Given the description of an element on the screen output the (x, y) to click on. 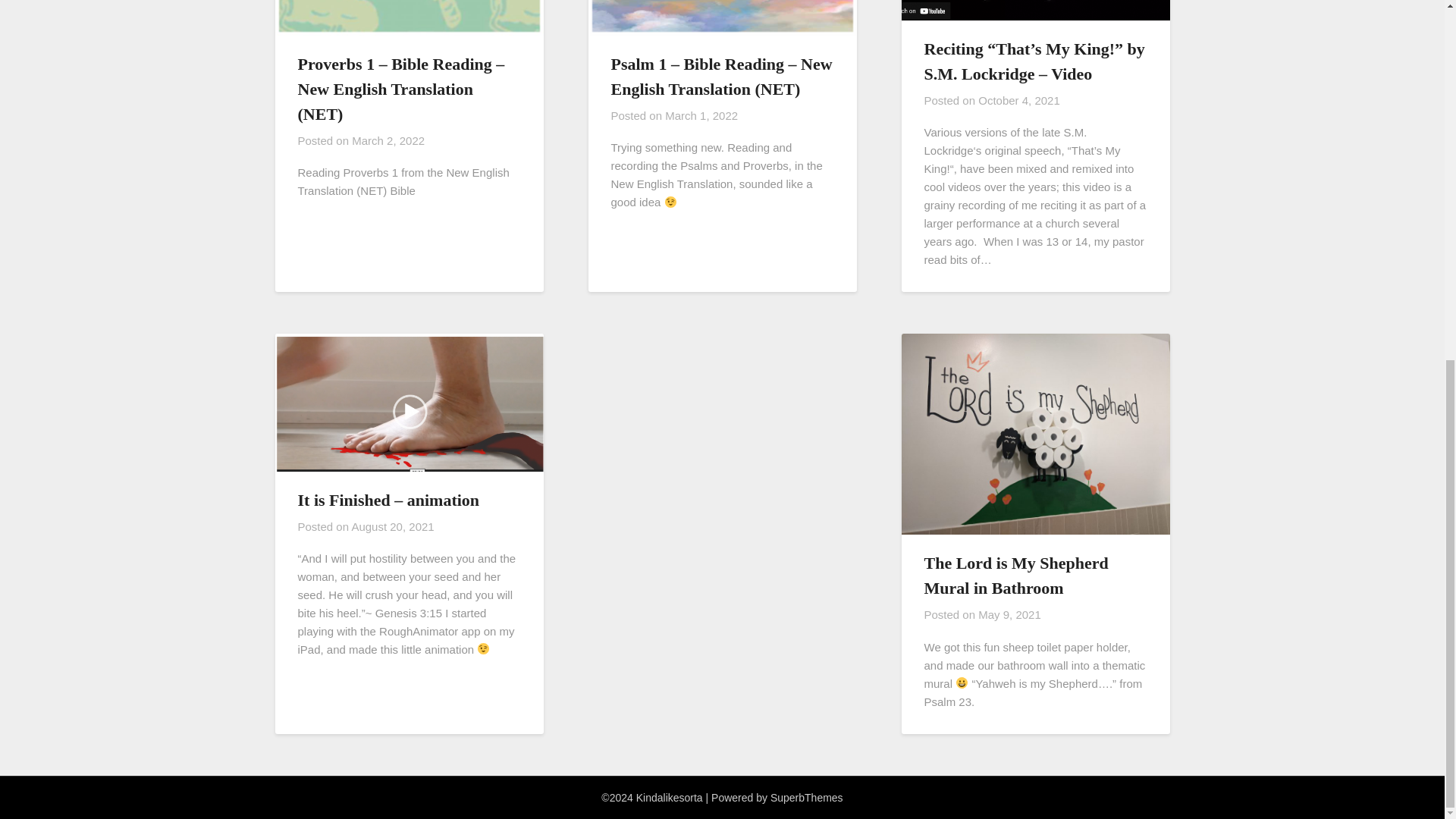
March 1, 2022 (701, 115)
March 2, 2022 (388, 140)
August 20, 2021 (391, 526)
The Lord is My Shepherd Mural in Bathroom (1015, 575)
October 4, 2021 (1018, 100)
May 9, 2021 (1009, 614)
